Given the description of an element on the screen output the (x, y) to click on. 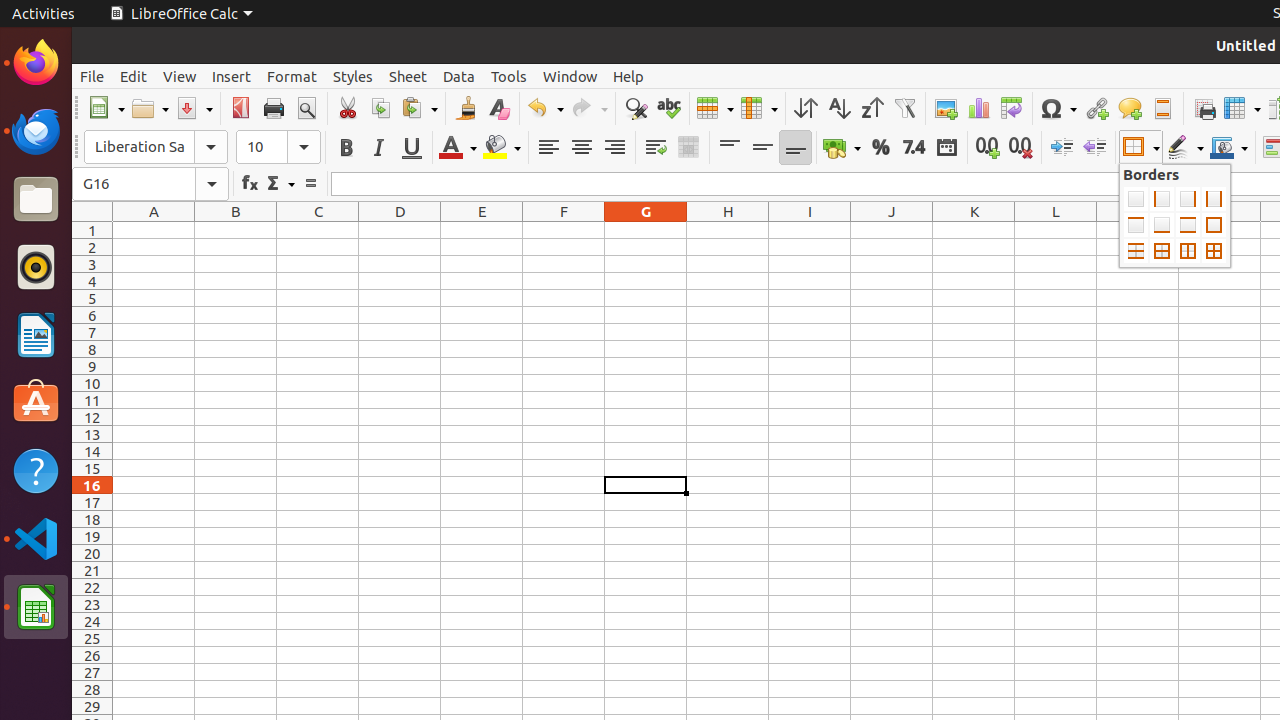
Print Preview Element type: toggle-button (306, 108)
H1 Element type: table-cell (728, 230)
Align Left Element type: push-button (548, 147)
Comment Element type: push-button (1129, 108)
New Element type: push-button (106, 108)
